Given the description of an element on the screen output the (x, y) to click on. 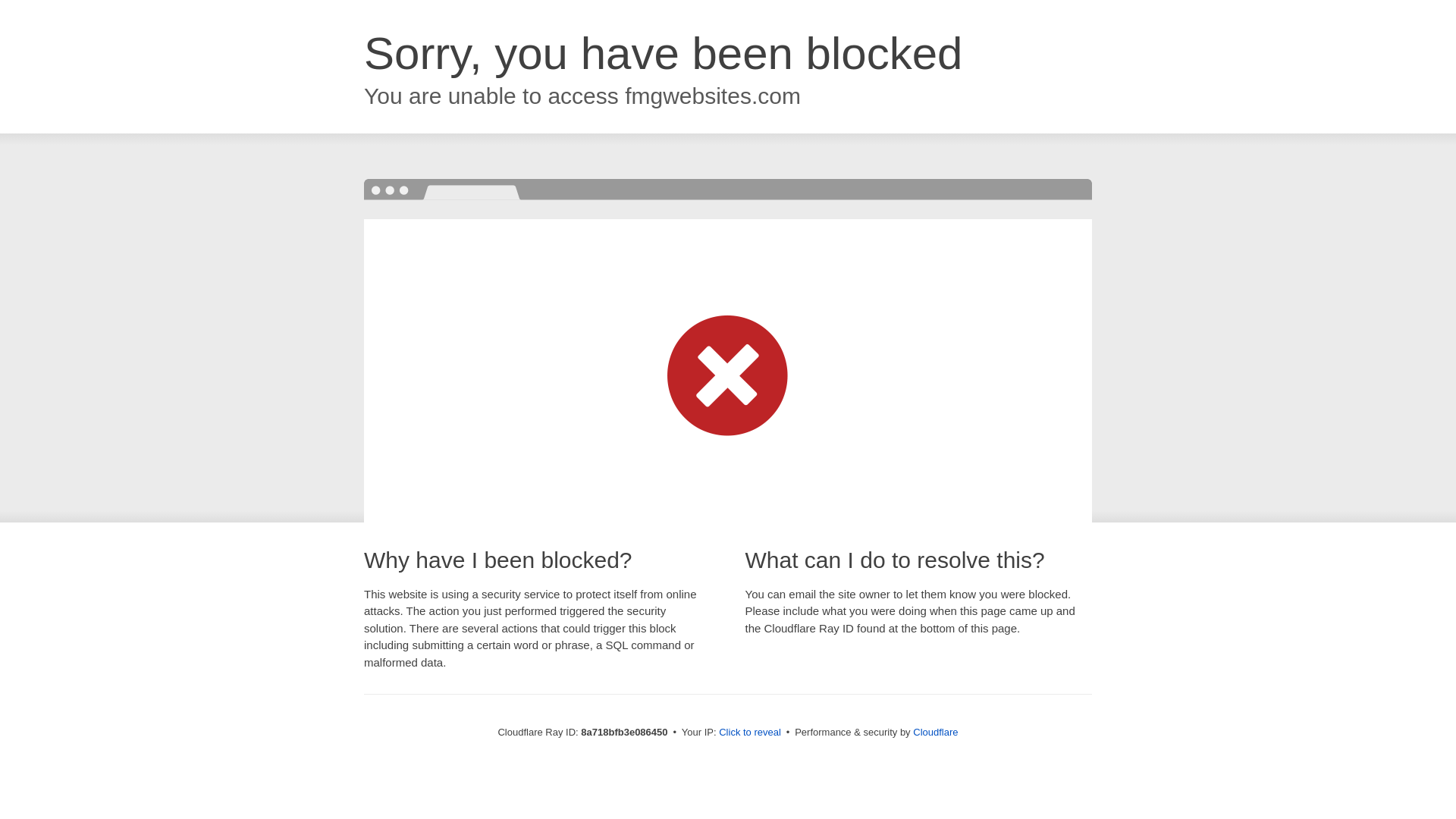
Cloudflare (935, 731)
Click to reveal (749, 732)
